Given the description of an element on the screen output the (x, y) to click on. 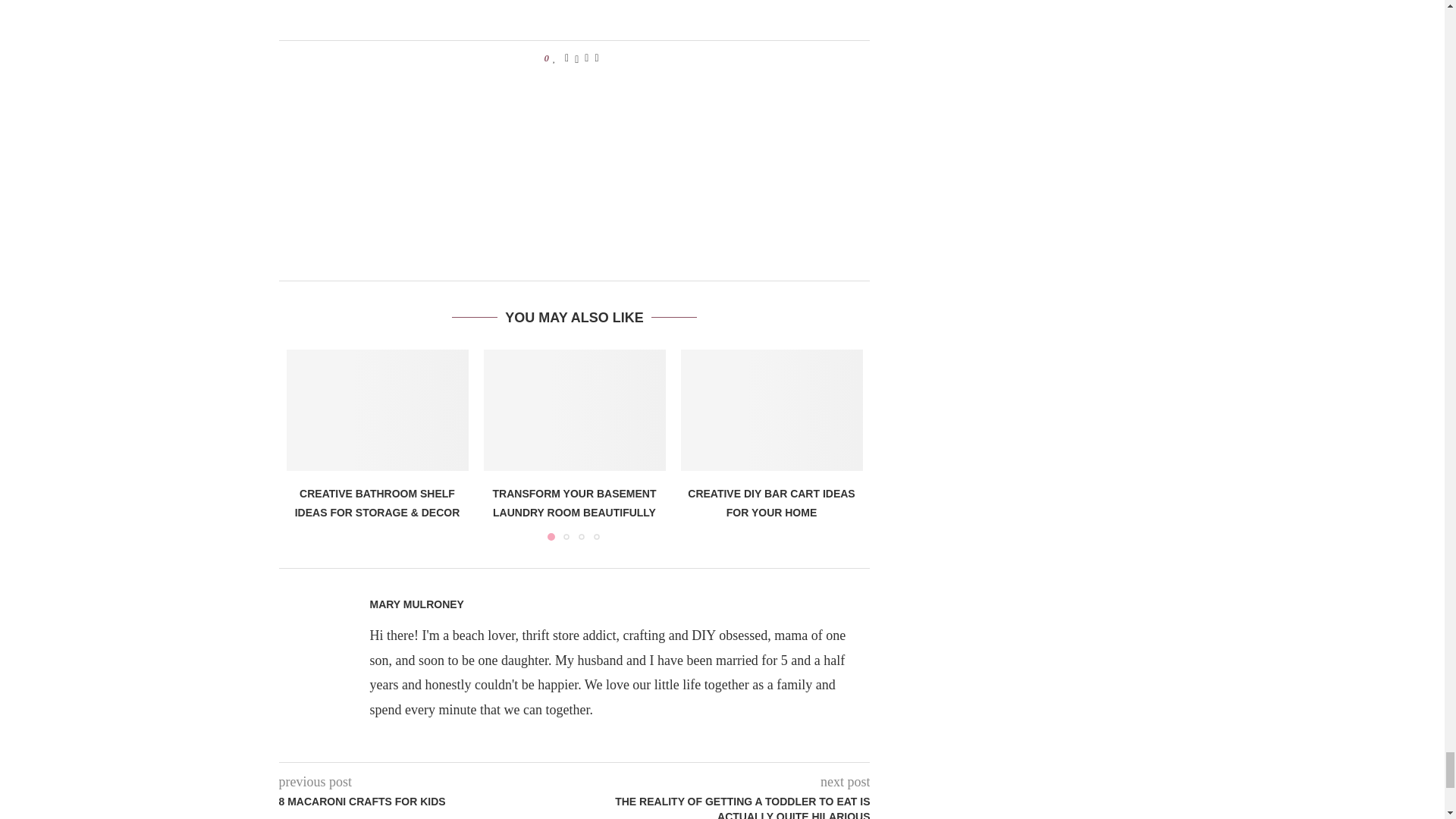
Creative DIY Bar Cart Ideas for Your Home (772, 409)
Transform Your Basement Laundry Room Beautifully (574, 409)
Author Mary Mulroney (416, 604)
